Given the description of an element on the screen output the (x, y) to click on. 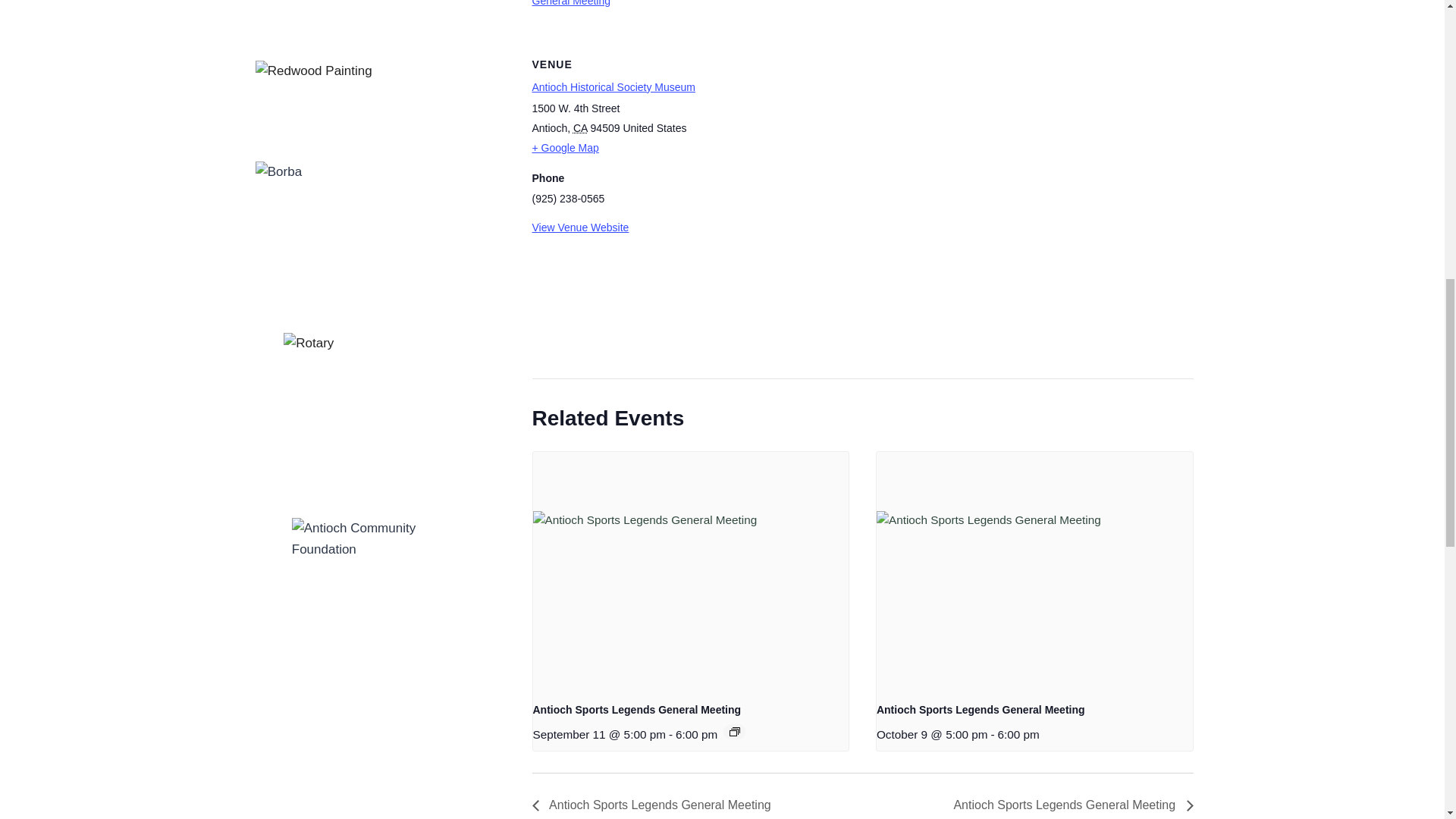
California (580, 128)
Event Series (734, 731)
Click to view a Google Map (773, 148)
